Given the description of an element on the screen output the (x, y) to click on. 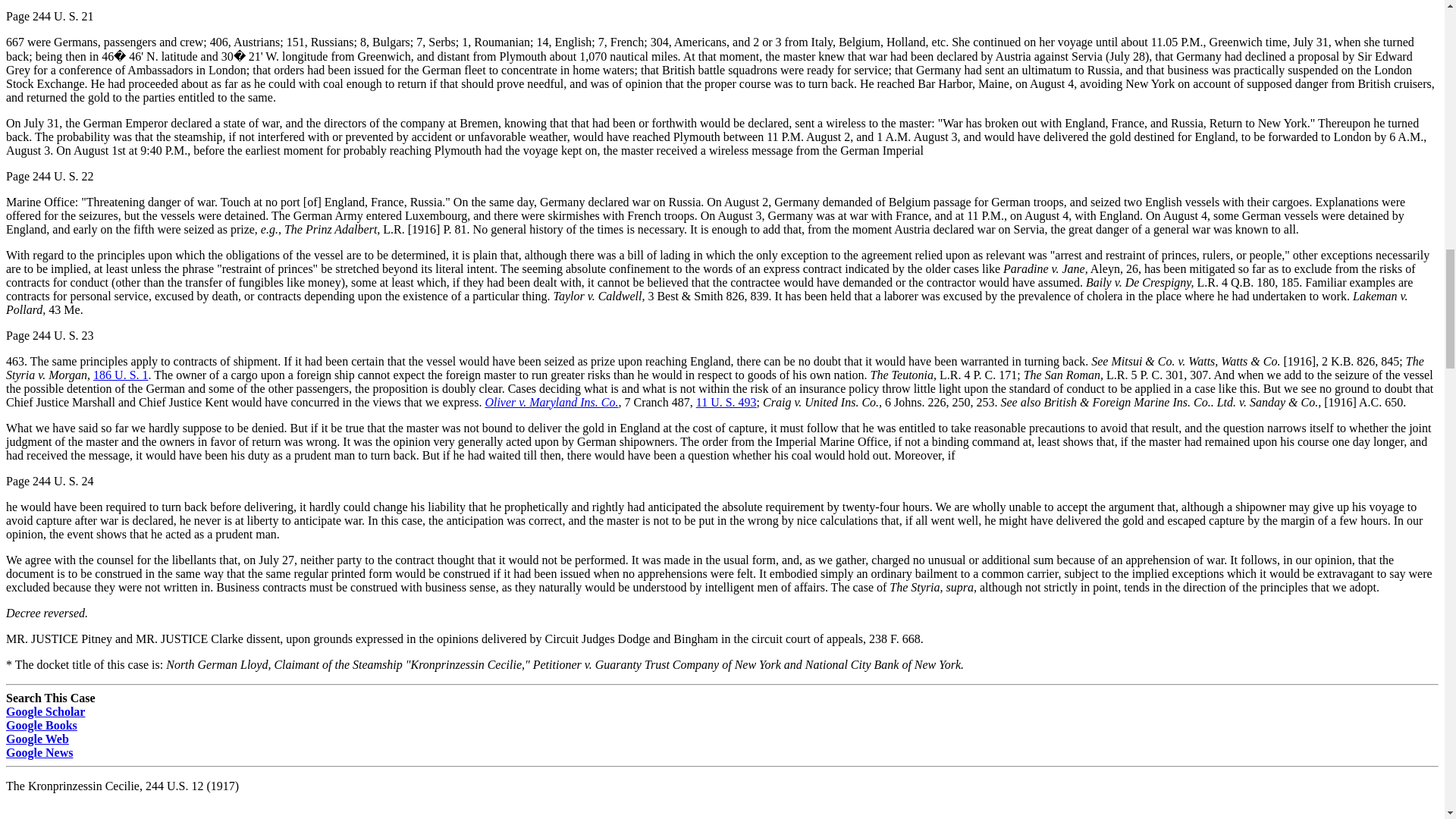
Law - Google Books (41, 725)
Law - Google Web (36, 738)
Law - Google Scholar (44, 711)
Law - Google News (38, 752)
